Given the description of an element on the screen output the (x, y) to click on. 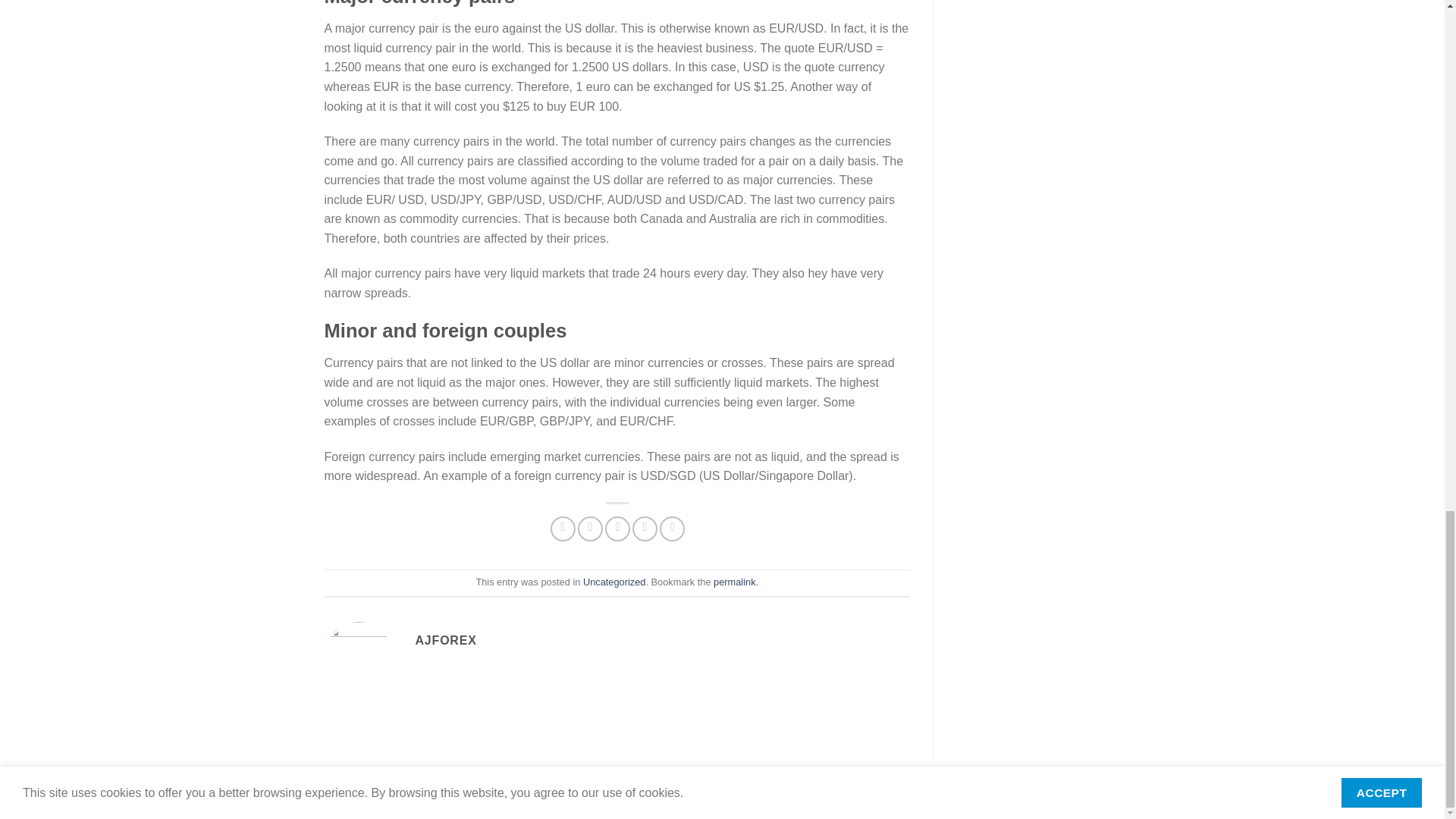
permalink (734, 582)
Permalink to Currency Pairs: All you need to know (734, 582)
Uncategorized (614, 582)
